Given the description of an element on the screen output the (x, y) to click on. 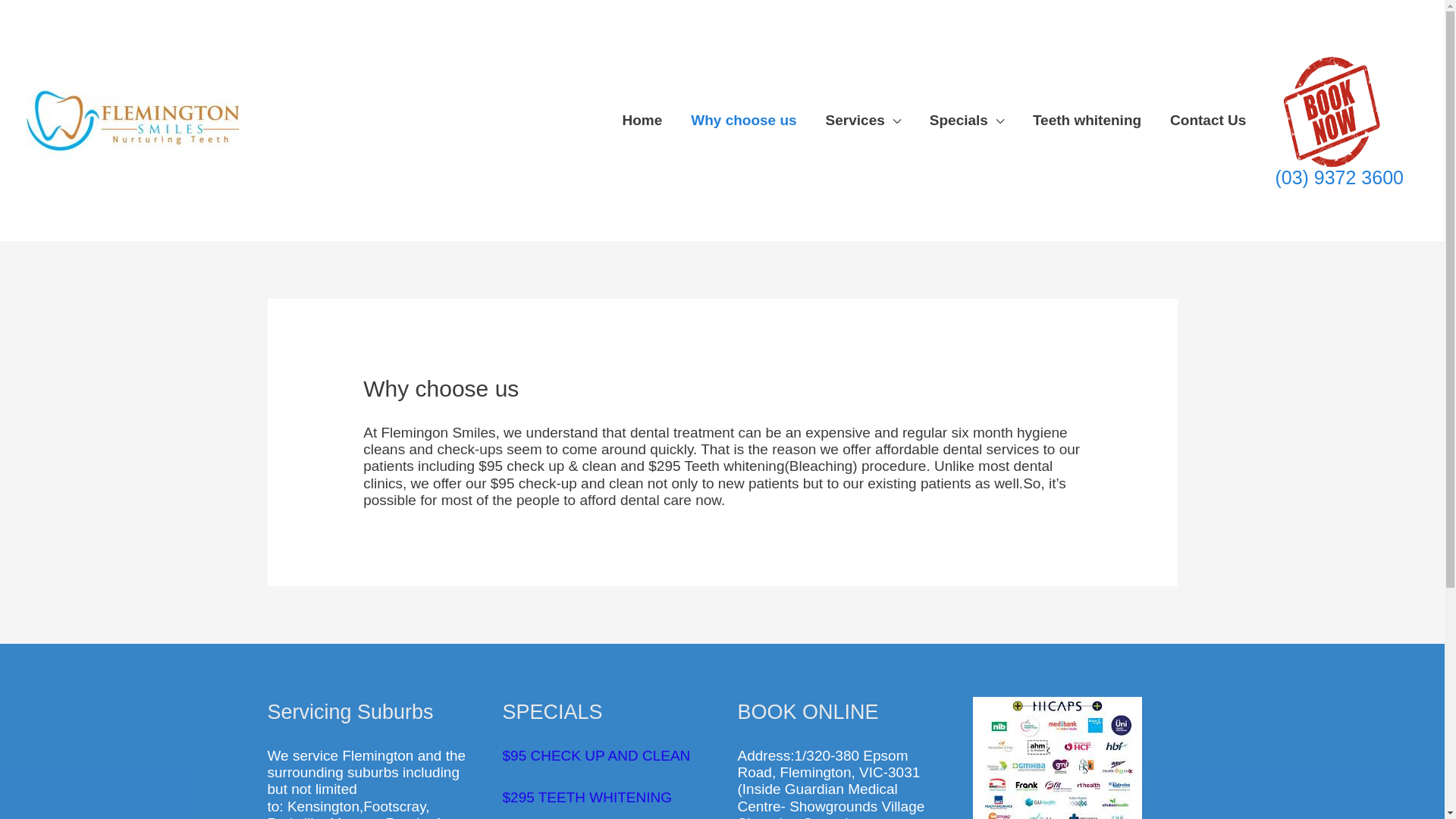
$95 CHECK UP AND CLEAN Element type: text (596, 755)
Teeth whitening Element type: text (1086, 120)
$295 TEETH WHITENING Element type: text (586, 797)
Contact Us Element type: text (1207, 120)
Why choose us Element type: text (743, 120)
Home Element type: text (641, 120)
Specials Element type: text (966, 120)
Services Element type: text (863, 120)
